Given the description of an element on the screen output the (x, y) to click on. 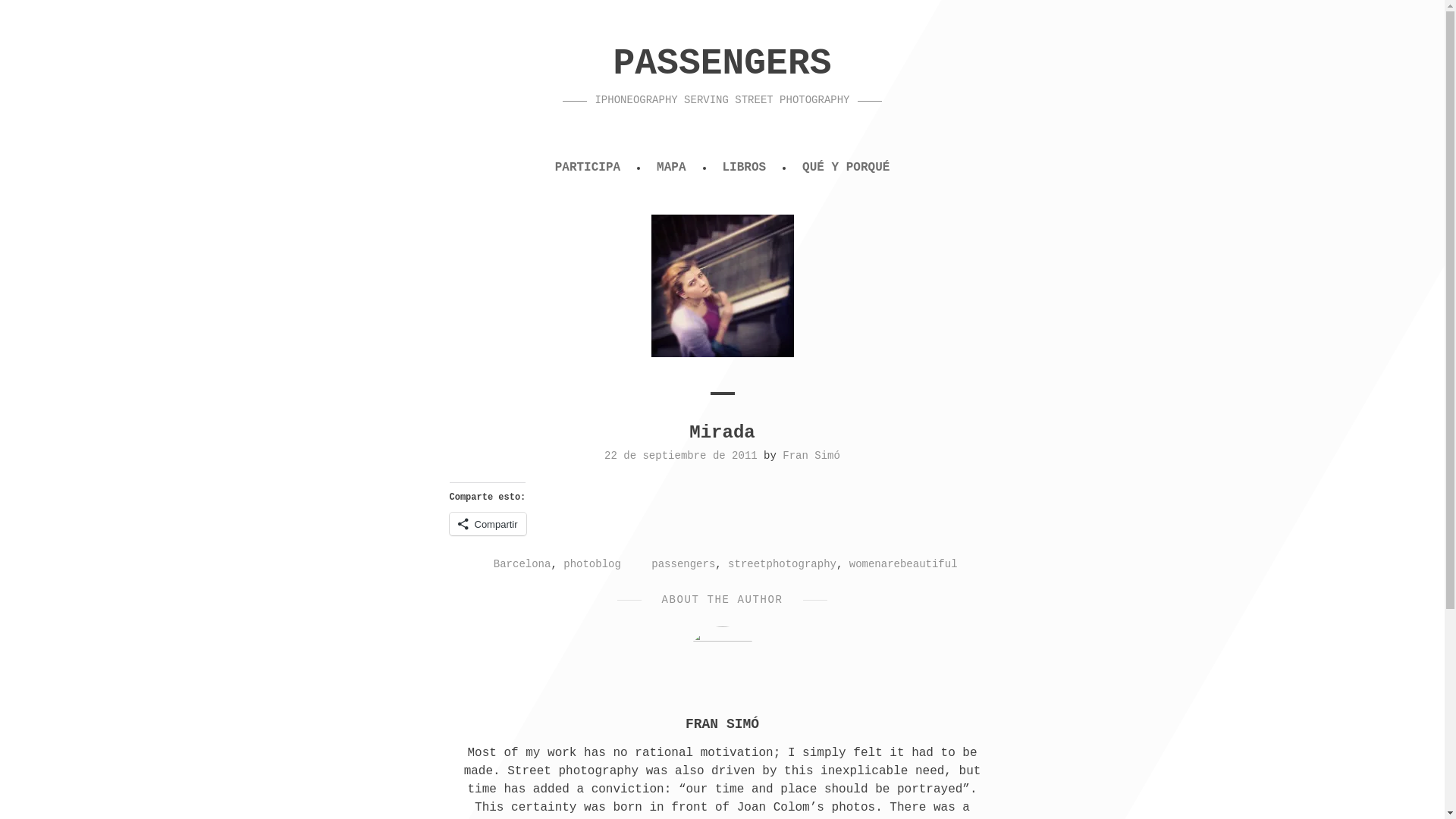
LIBROS (743, 167)
PARTICIPA (588, 167)
PASSENGERS (721, 63)
photoblog (592, 563)
streetphotography (781, 563)
womenarebeautiful (903, 563)
Barcelona (522, 563)
Compartir (486, 523)
22 de septiembre de 2011 (680, 455)
MAPA (671, 167)
passengers (682, 563)
